Given the description of an element on the screen output the (x, y) to click on. 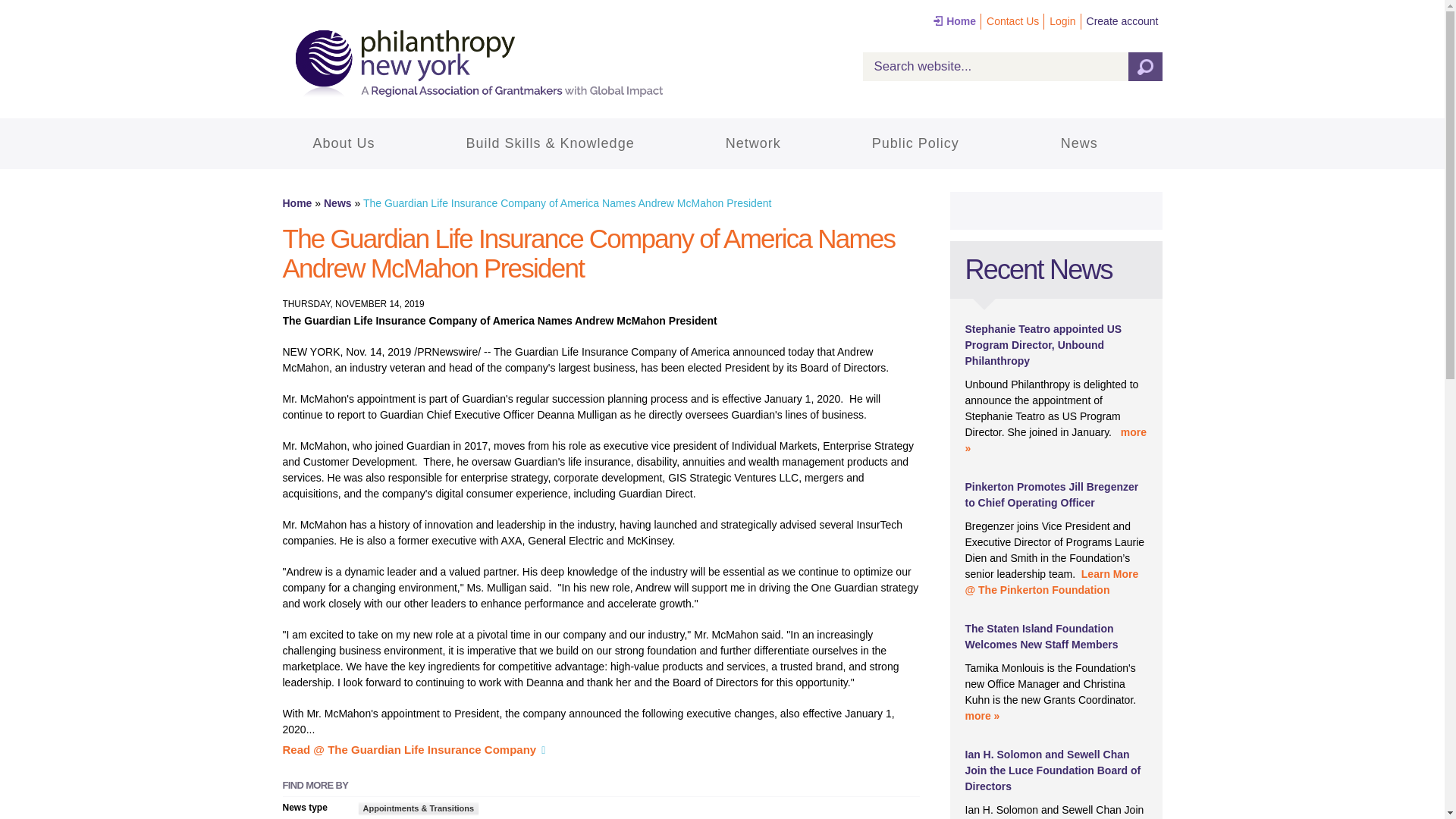
GO (1144, 66)
Enter the terms you wish to search for. (1012, 66)
Search website... (1012, 66)
